Given the description of an element on the screen output the (x, y) to click on. 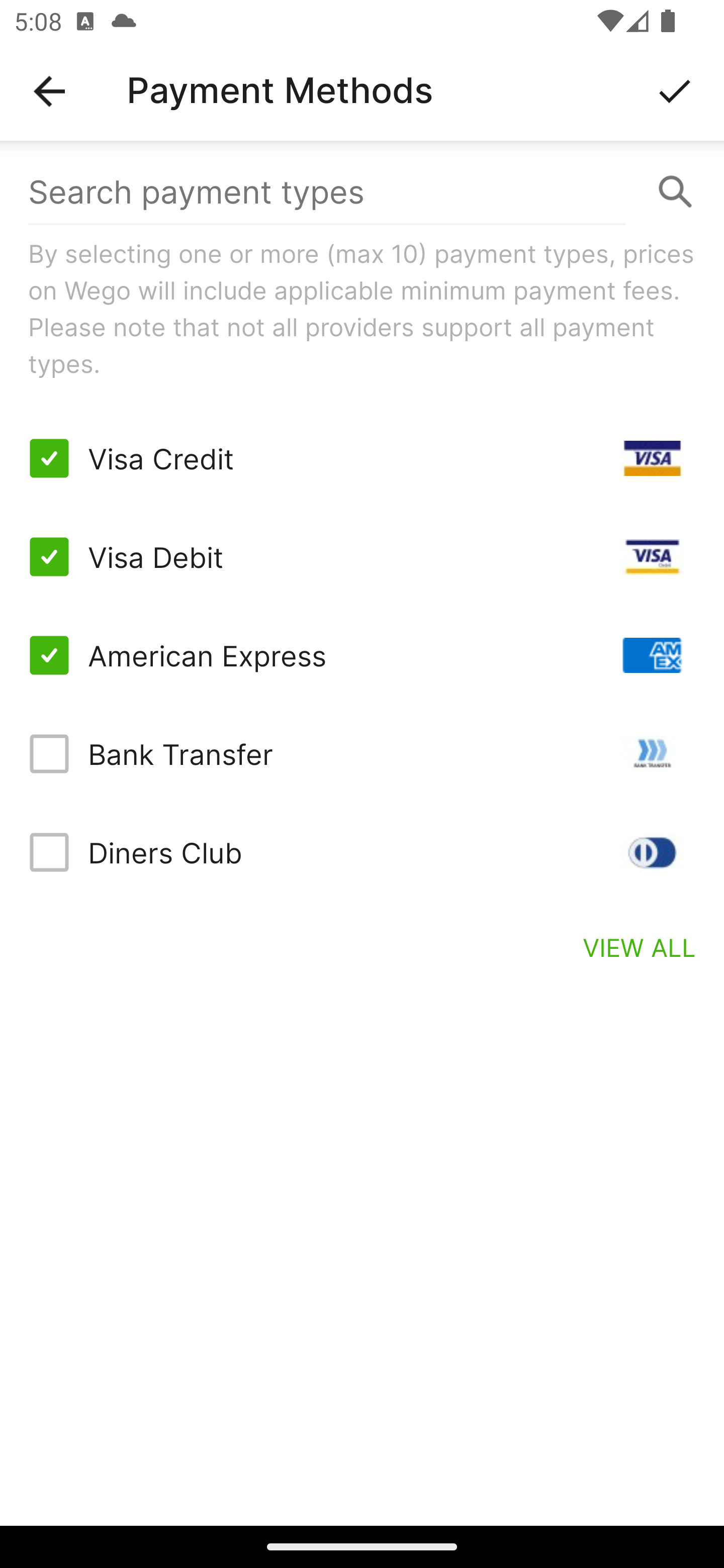
Search payment types  (361, 191)
Visa Credit (362, 458)
Visa Debit (362, 557)
American Express (362, 655)
Bank Transfer (362, 753)
Diners Club (362, 851)
VIEW ALL (639, 946)
